Given the description of an element on the screen output the (x, y) to click on. 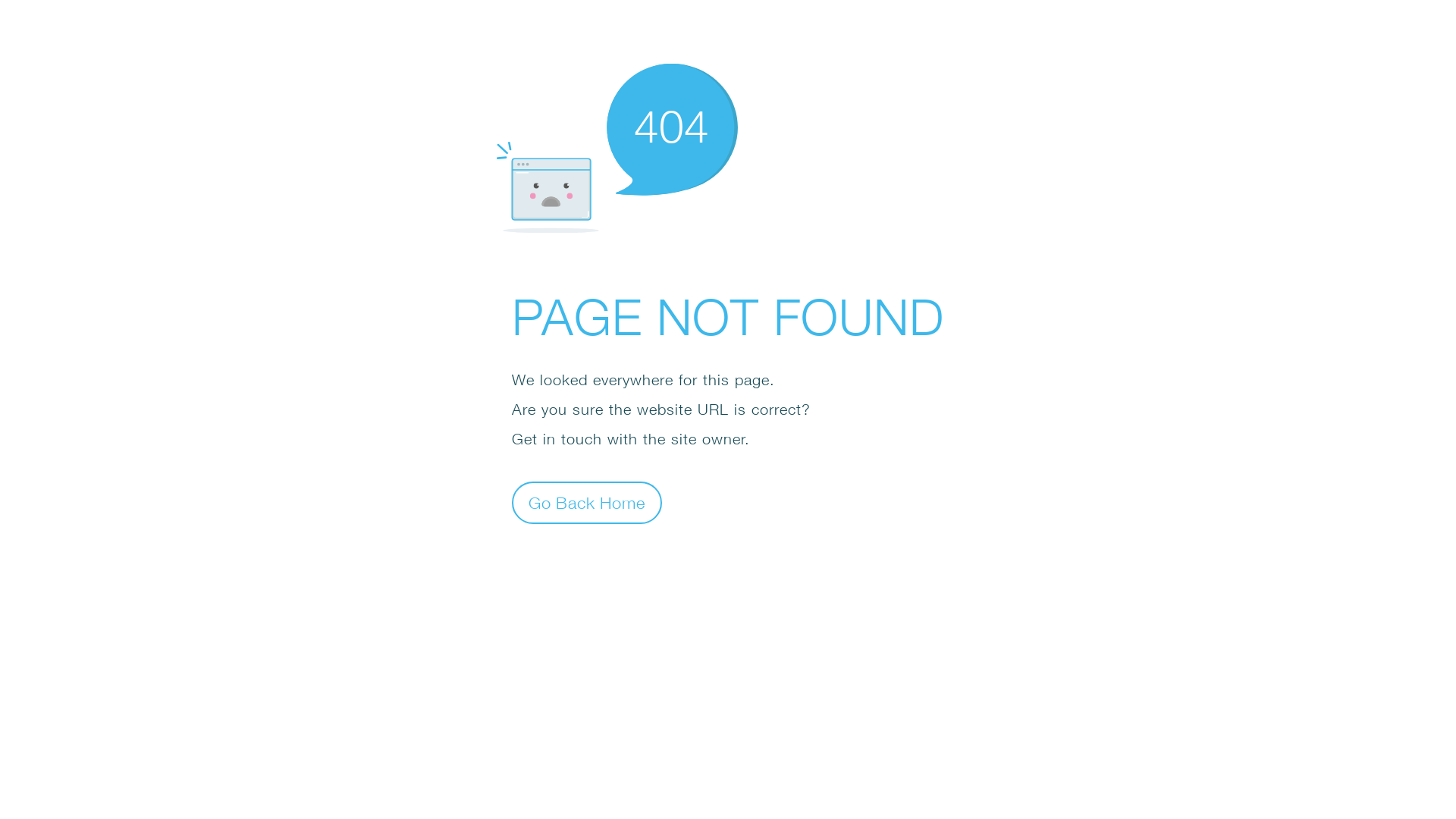
Go Back Home Element type: text (586, 502)
